Given the description of an element on the screen output the (x, y) to click on. 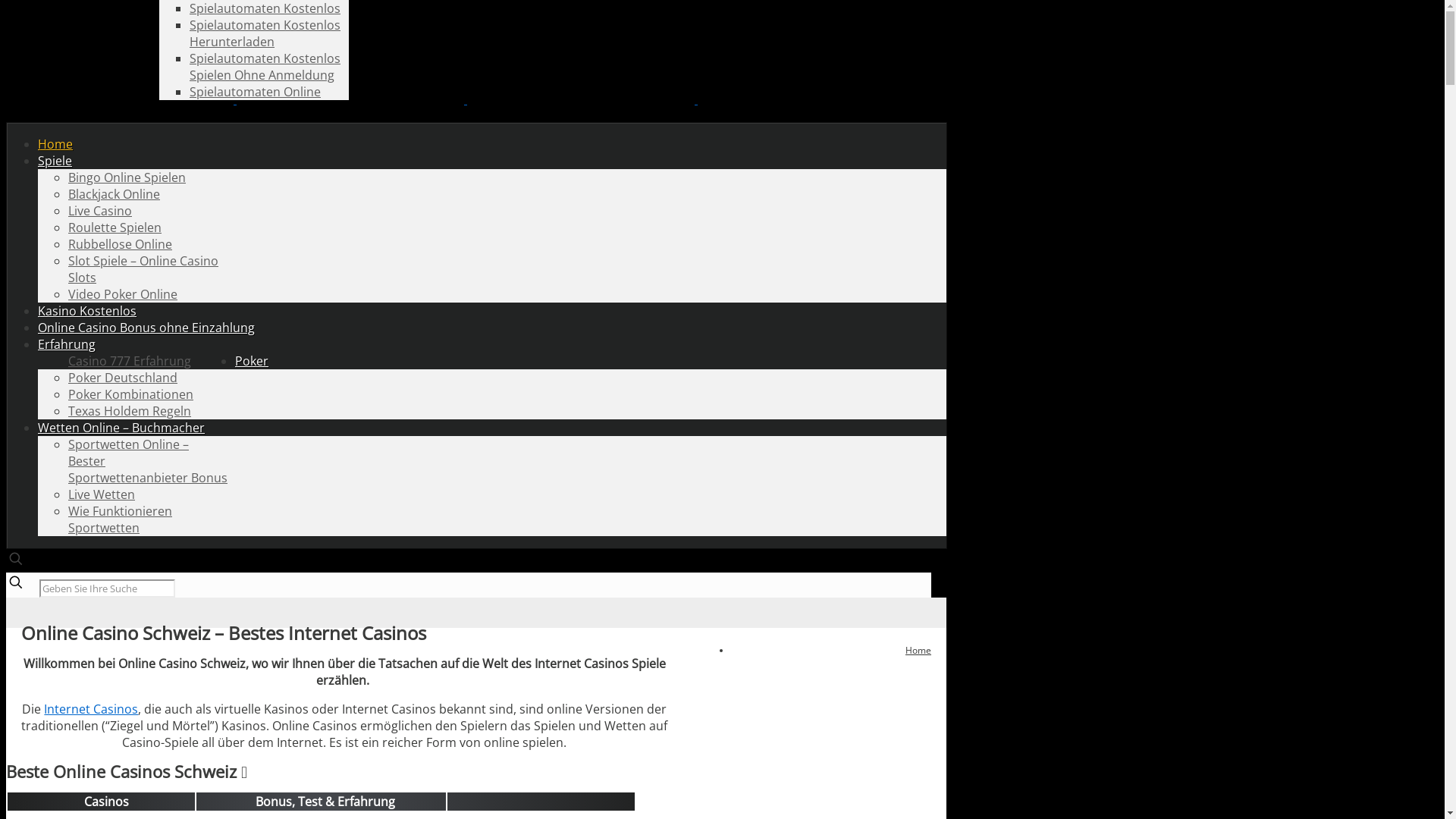
Poker Deutschland Element type: text (122, 377)
Spielautomaten Kostenlos Spielen Ohne Anmeldung Element type: text (264, 66)
Online Casino Bonus ohne Einzahlung Element type: text (145, 327)
Roulette Strategie Element type: text (240, 8)
Internet Casinos Element type: text (90, 708)
Wie Funktionieren Sportwetten Element type: text (120, 519)
Spielautomaten Kostenlos Element type: text (264, 8)
Poker Kombinationen Element type: text (130, 393)
Kasino Kostenlos Element type: text (86, 310)
Spiele Element type: text (54, 160)
Live Wetten Element type: text (101, 494)
Poker Element type: text (251, 360)
Rubbellose Online Element type: text (120, 243)
Home Element type: text (918, 649)
Live Casino Element type: text (99, 210)
Bingo Online Spielen Element type: text (126, 177)
Texas Holdem Regeln Element type: text (129, 410)
Video Poker Online Element type: text (122, 293)
Spielautomaten Kostenlos Herunterladen Element type: text (264, 33)
Blackjack Online Element type: text (114, 193)
Online Casino Schweiz Element type: hover (465, 99)
Casino 777 Erfahrung Element type: text (129, 360)
Home Element type: text (54, 143)
Spielautomaten Online Element type: text (254, 91)
Roulette Spielen Element type: text (114, 227)
Erfahrung Element type: text (66, 344)
